Given the description of an element on the screen output the (x, y) to click on. 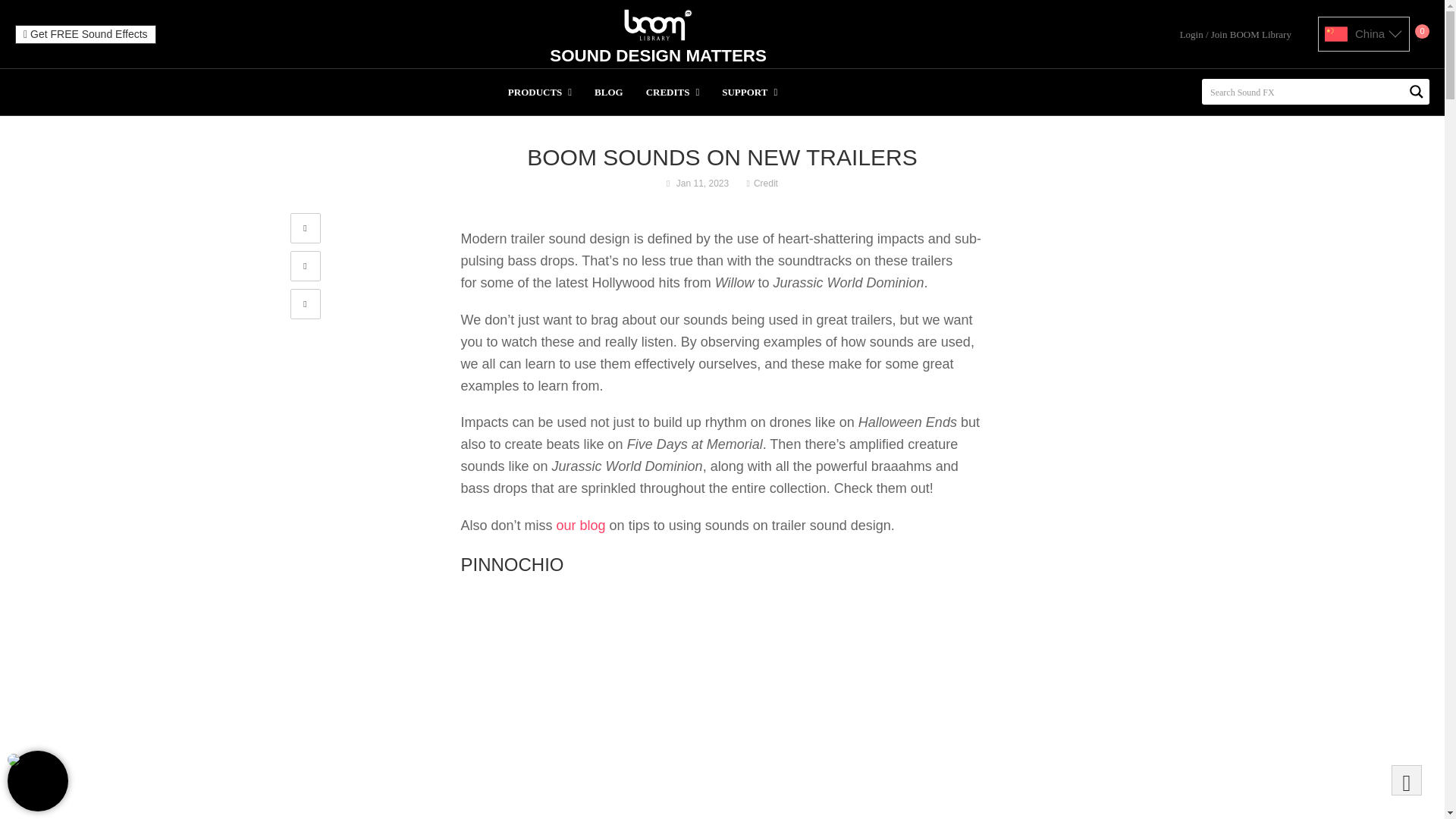
CREDITS (672, 91)
our blog (580, 525)
Facebook (304, 227)
Credit (765, 183)
Pinterest (304, 304)
Jan 11, 2023 (703, 183)
Twitter (304, 265)
PRODUCTS (539, 91)
BLOG (608, 91)
SUPPORT (749, 91)
